Given the description of an element on the screen output the (x, y) to click on. 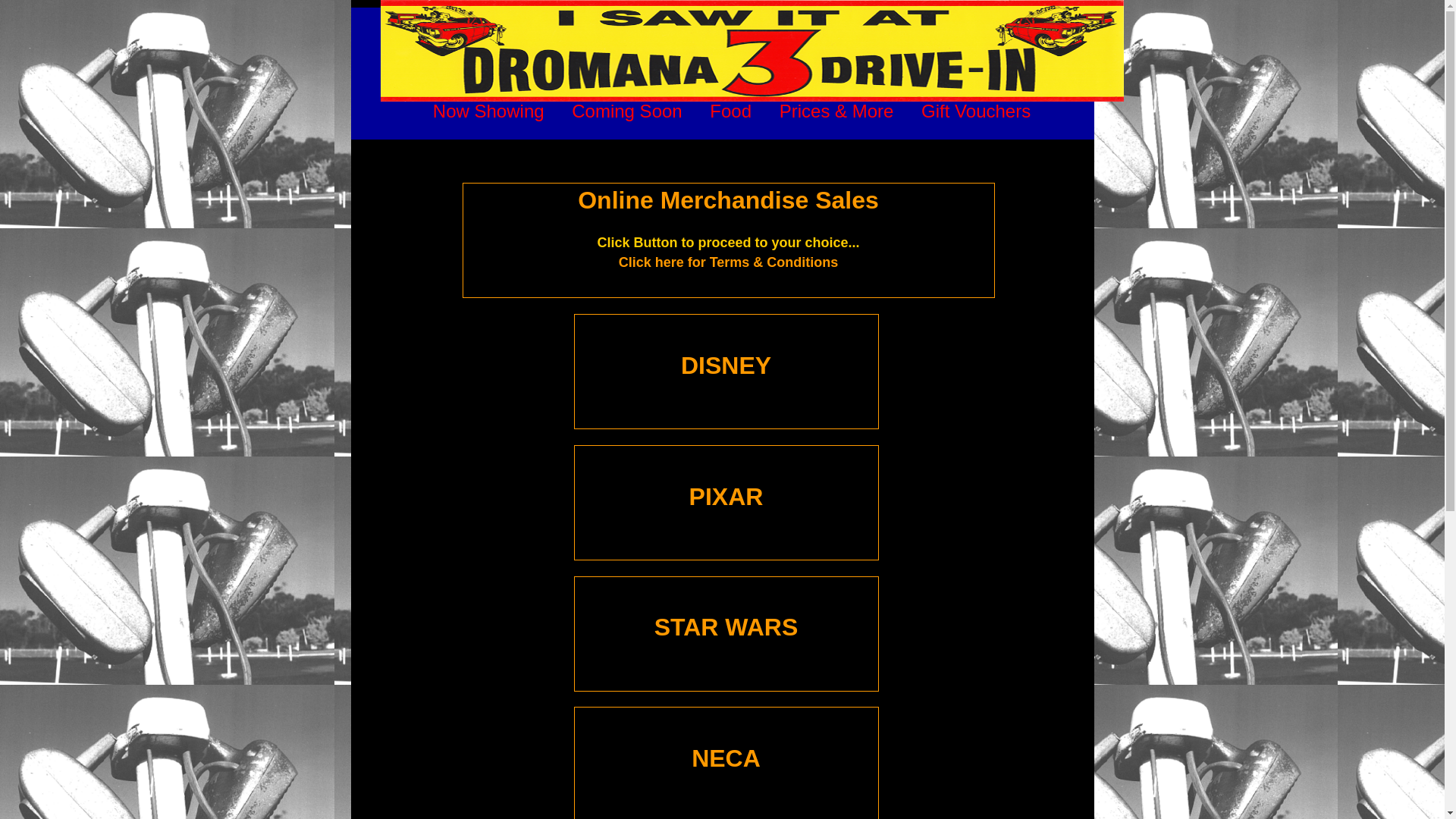
Food Element type: text (730, 110)
Click here for Terms & Conditions Element type: text (728, 261)
Now Showing Element type: text (488, 110)
Coming Soon Element type: text (626, 110)
Gift Vouchers Element type: text (975, 110)
DISNEY Element type: text (725, 365)
Prices & More Element type: text (836, 110)
